Given the description of an element on the screen output the (x, y) to click on. 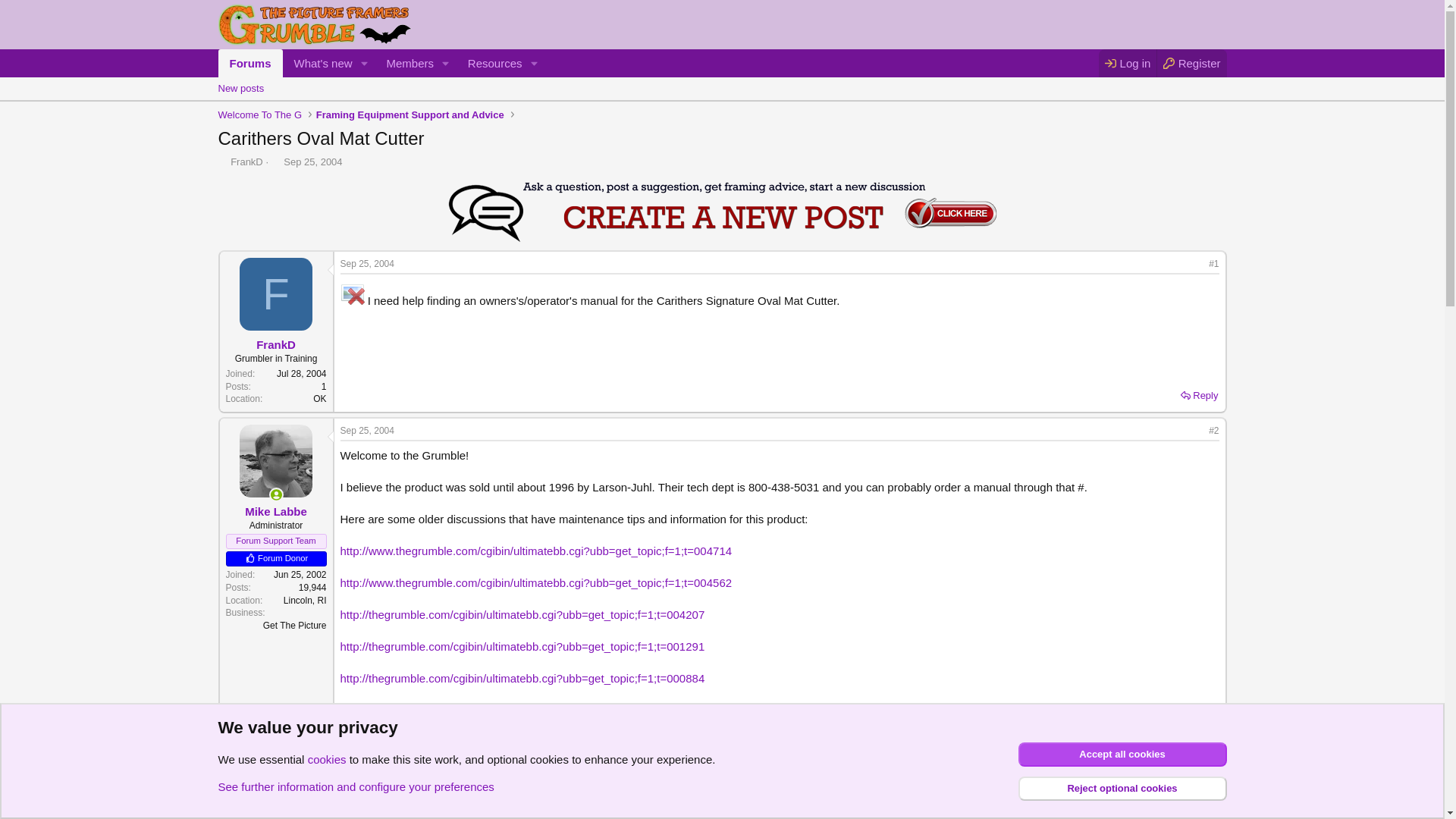
New posts (382, 62)
Sep 25, 2004 at 10:40 AM (241, 87)
Sep 25, 2004 at 6:59 PM (366, 263)
Start date (366, 430)
Register (275, 161)
OK (1190, 62)
Reply, quoting this message (319, 398)
Log in (1199, 395)
New posts (1127, 62)
